Given the description of an element on the screen output the (x, y) to click on. 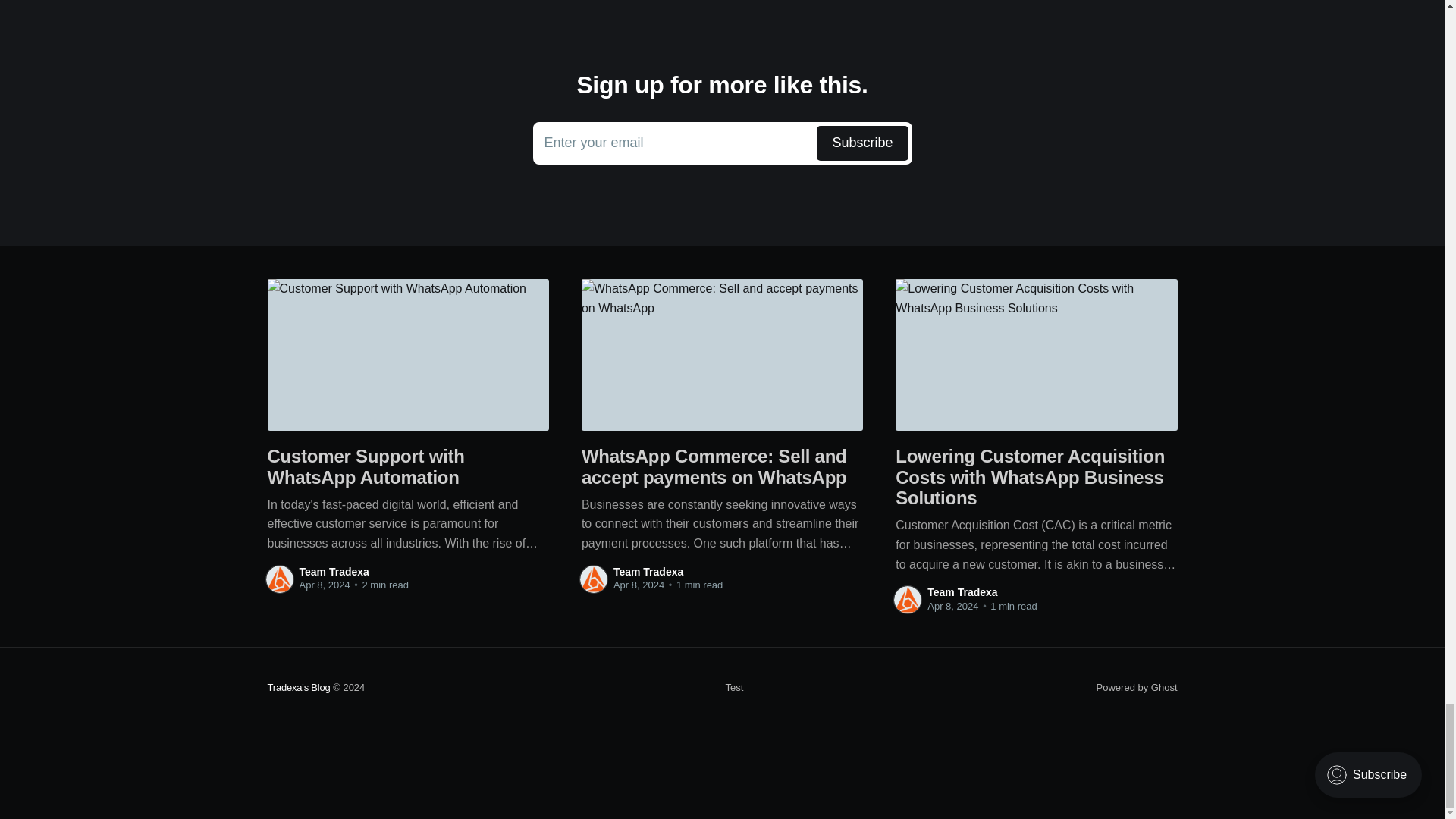
Test (734, 687)
Tradexa's Blog (298, 686)
Powered by Ghost (1136, 686)
Team Tradexa (333, 571)
Team Tradexa (647, 571)
Team Tradexa (962, 592)
